Given the description of an element on the screen output the (x, y) to click on. 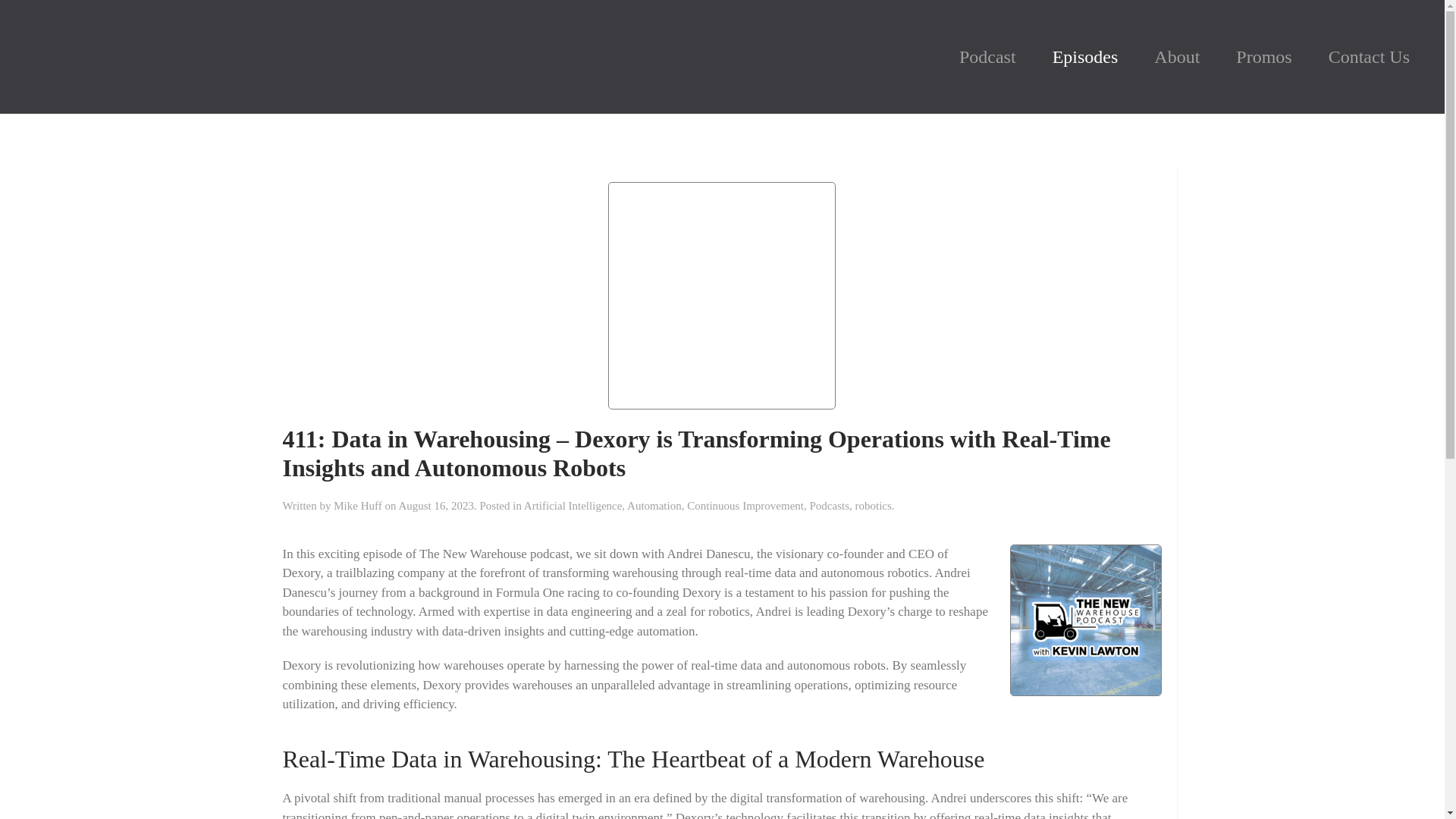
Artificial Intelligence (573, 505)
Contact Us (1369, 56)
Podcasts (828, 505)
Episodes (1085, 56)
Automation (654, 505)
Podcast (986, 56)
Mike Huff (357, 505)
Continuous Improvement (745, 505)
robotics (872, 505)
About (1176, 56)
